Given the description of an element on the screen output the (x, y) to click on. 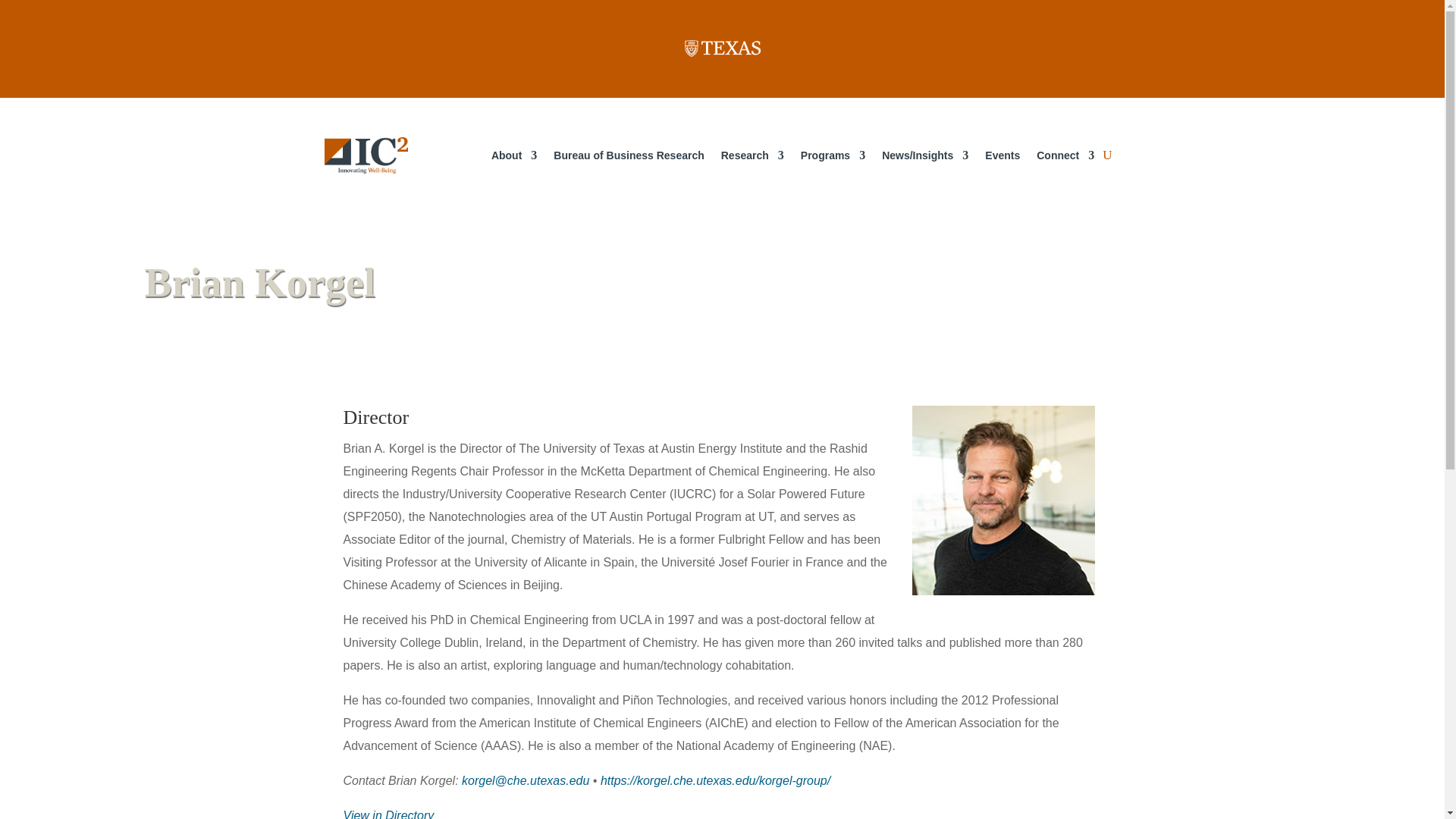
Connect (1065, 155)
Research (752, 155)
Bureau of Business Research (628, 155)
Programs (832, 155)
Texas Logo (722, 48)
